Given the description of an element on the screen output the (x, y) to click on. 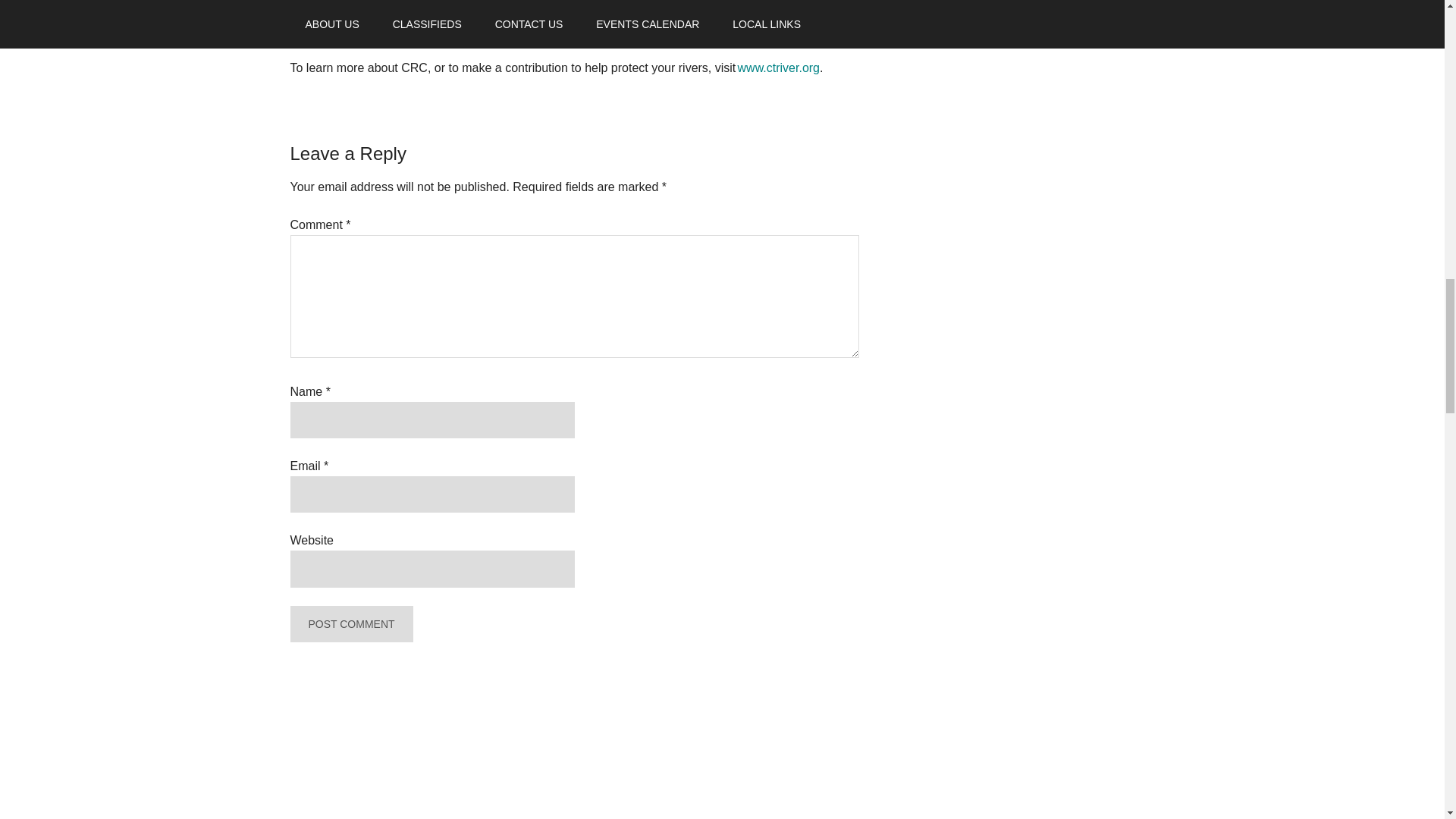
3rd party ad content (994, 375)
Post Comment (350, 624)
3rd party ad content (994, 614)
3rd party ad content (994, 137)
3rd party ad content (994, 788)
